Given the description of an element on the screen output the (x, y) to click on. 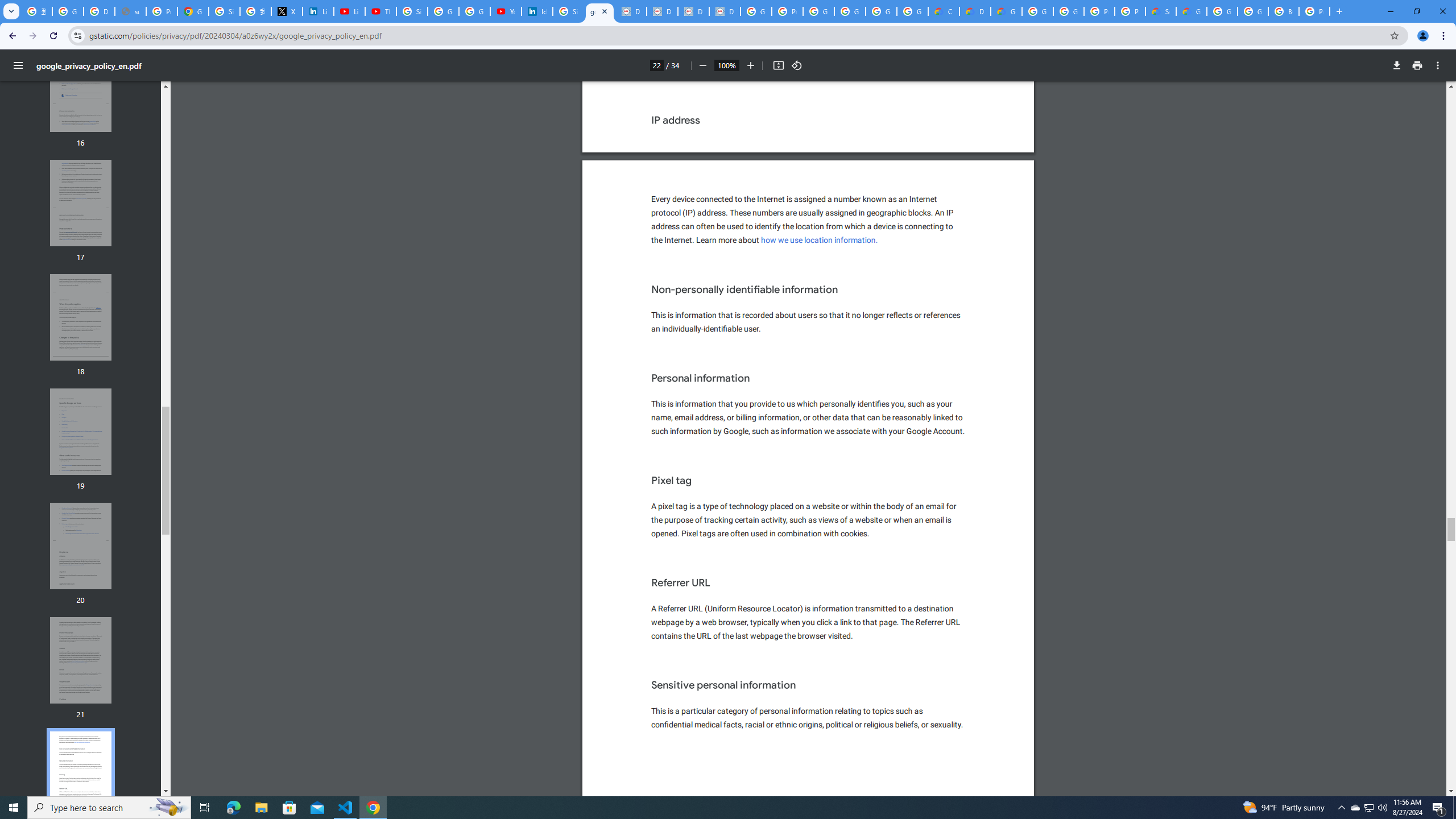
Privacy Help Center - Policies Help (161, 11)
Gemini for Business and Developers | Google Cloud (1005, 11)
Customer Care | Google Cloud (943, 11)
Data Privacy Framework (693, 11)
Support Hub | Google Cloud (1160, 11)
Zoom out (702, 65)
Google Workspace - Specific Terms (881, 11)
Rotate counterclockwise (796, 65)
Print (1416, 65)
